Given the description of an element on the screen output the (x, y) to click on. 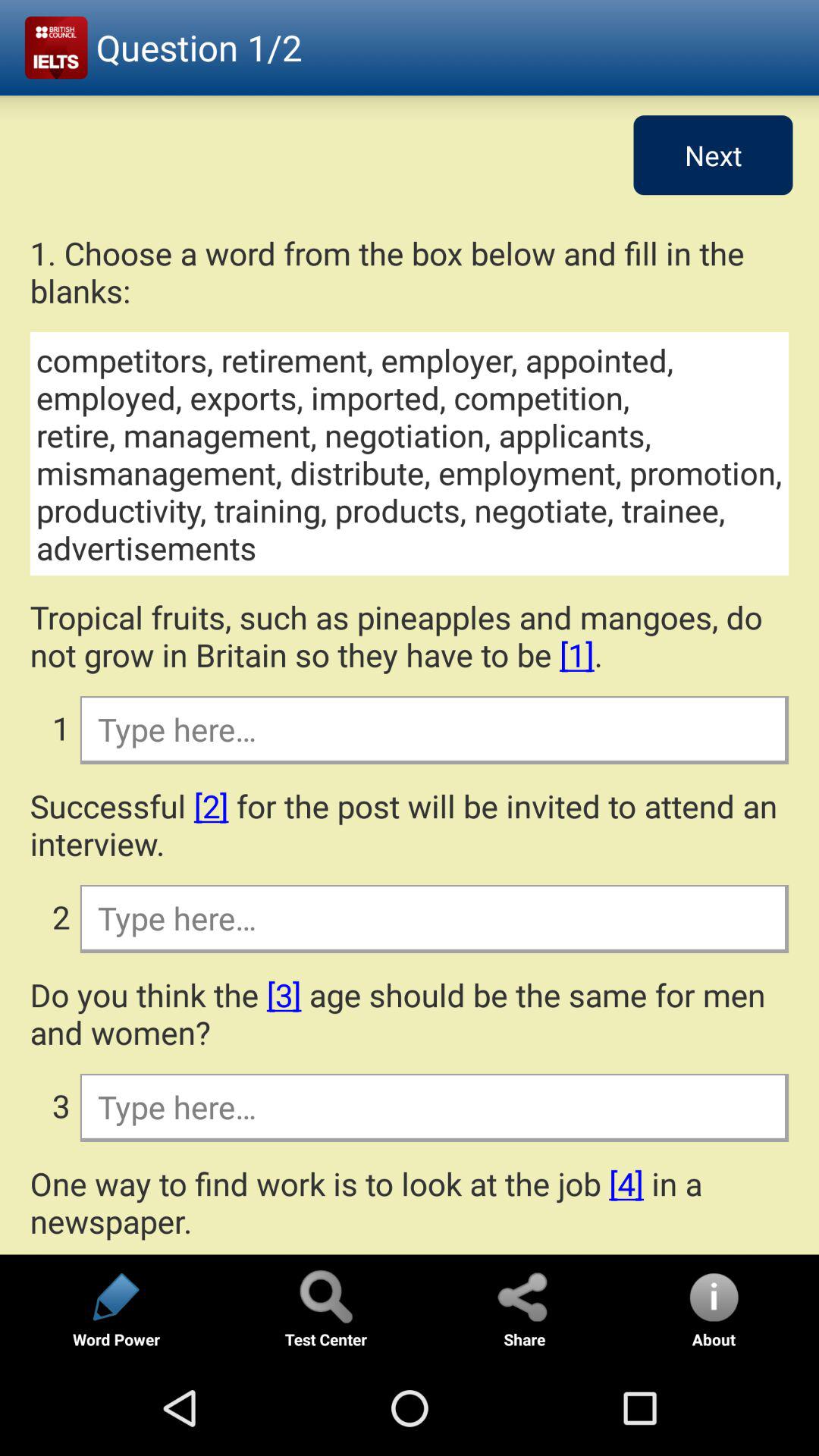
fill in the blanks (432, 917)
